Given the description of an element on the screen output the (x, y) to click on. 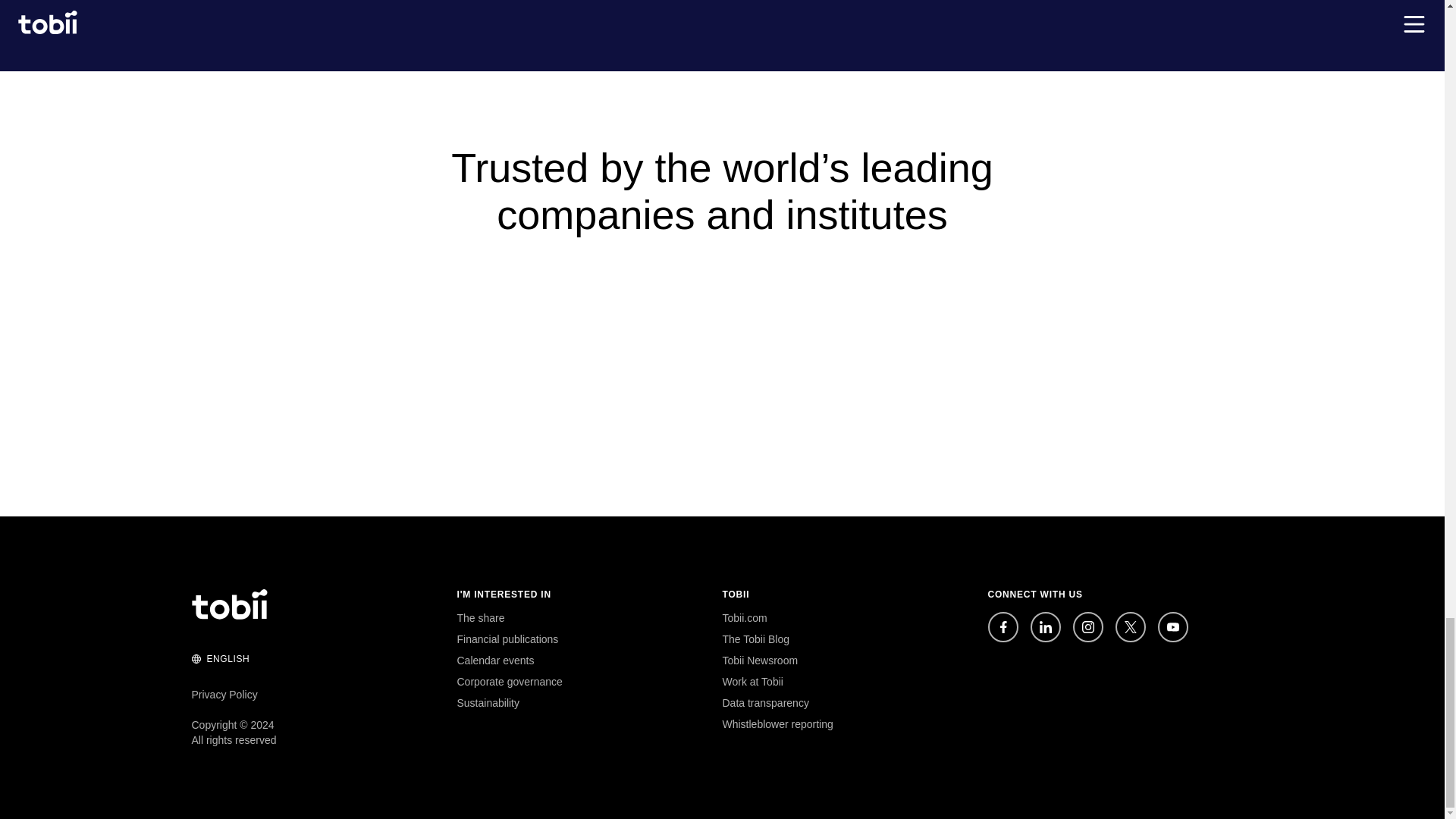
Tobii.com (744, 617)
Tobii on Twitter (1129, 626)
Corporate governance (509, 681)
Financial publications (507, 639)
Tobii on Youtube (1172, 626)
Tobii Newsroom (759, 660)
Calendar events (495, 660)
Tobii on Facebook (1002, 626)
Tobii on Instagram (1086, 626)
Whistleblower reporting (777, 724)
Sustainability (488, 702)
The Tobii Blog (755, 639)
ENGLISH (219, 664)
Work at Tobii (752, 681)
The share (480, 617)
